Given the description of an element on the screen output the (x, y) to click on. 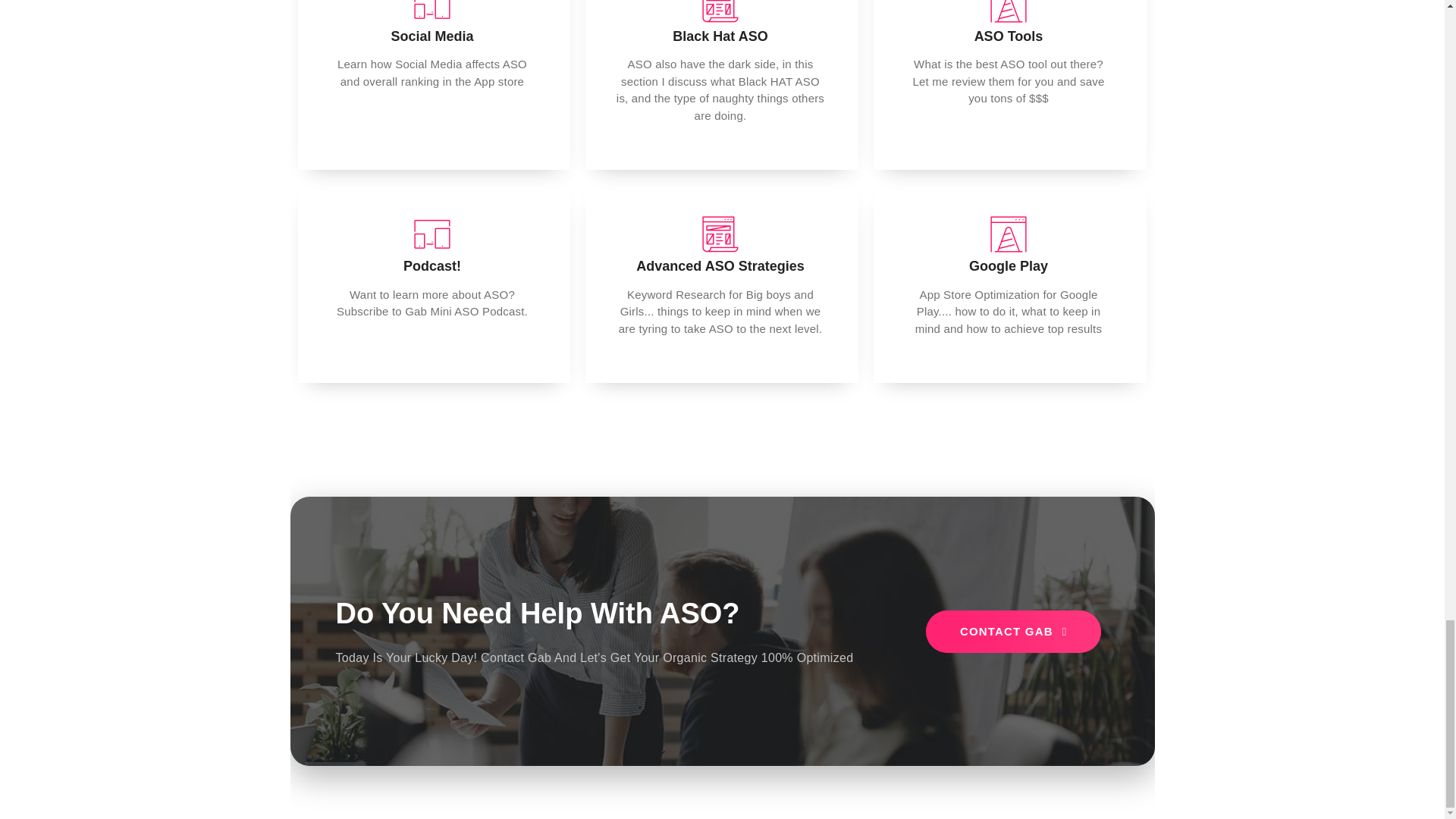
3.png (432, 234)
Podcast! (432, 265)
6.png (1008, 234)
13.png (720, 11)
13.png (720, 234)
CONTACT GAB (1014, 631)
Social Media (431, 36)
3.png (432, 11)
ASO Tools (1008, 36)
Black Hat ASO (719, 36)
6.png (1008, 11)
Google Play (1008, 265)
Advanced ASO Strategies (719, 265)
